Given the description of an element on the screen output the (x, y) to click on. 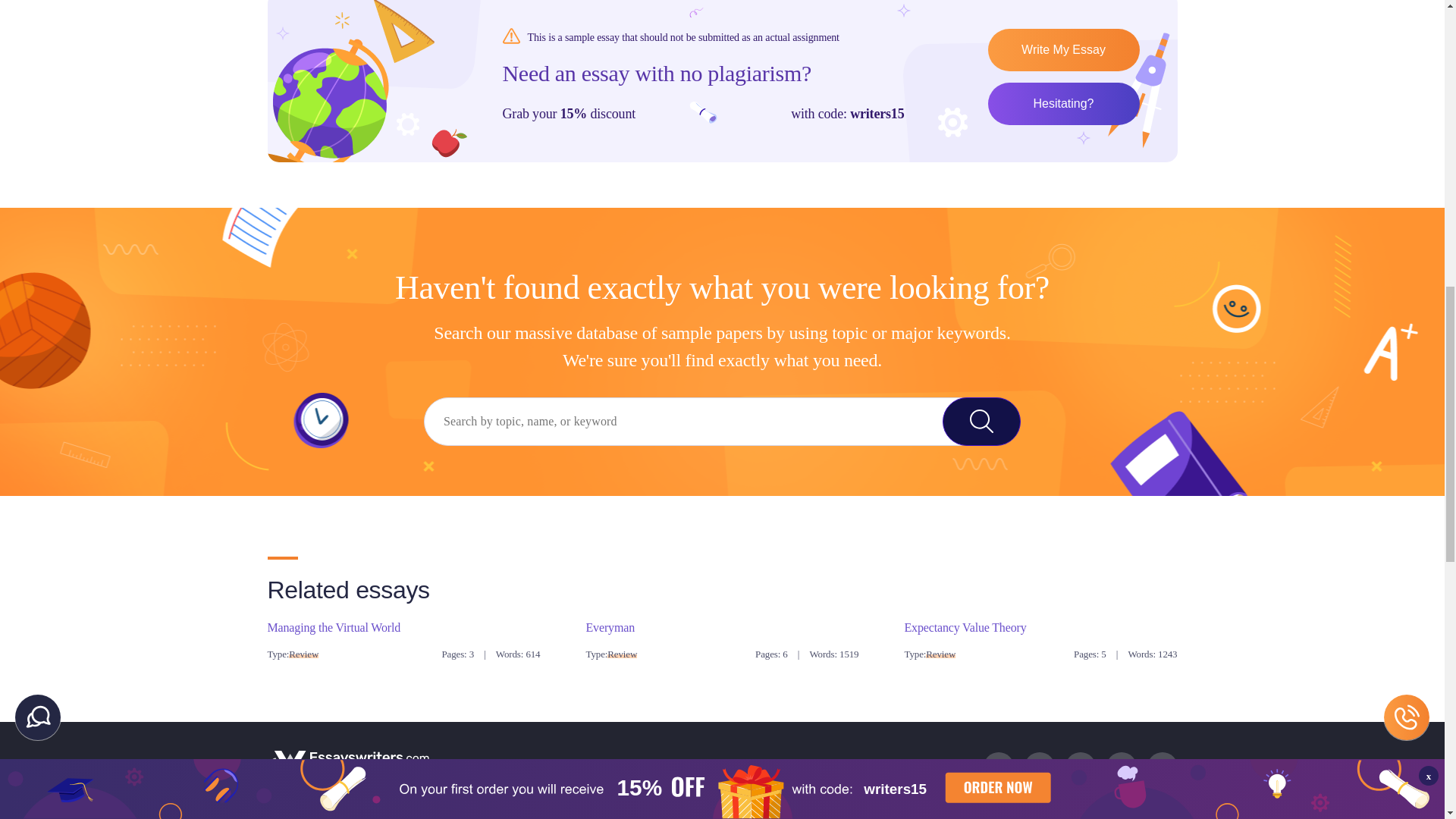
Read more (965, 626)
Read more (333, 626)
Read more (609, 626)
